Given the description of an element on the screen output the (x, y) to click on. 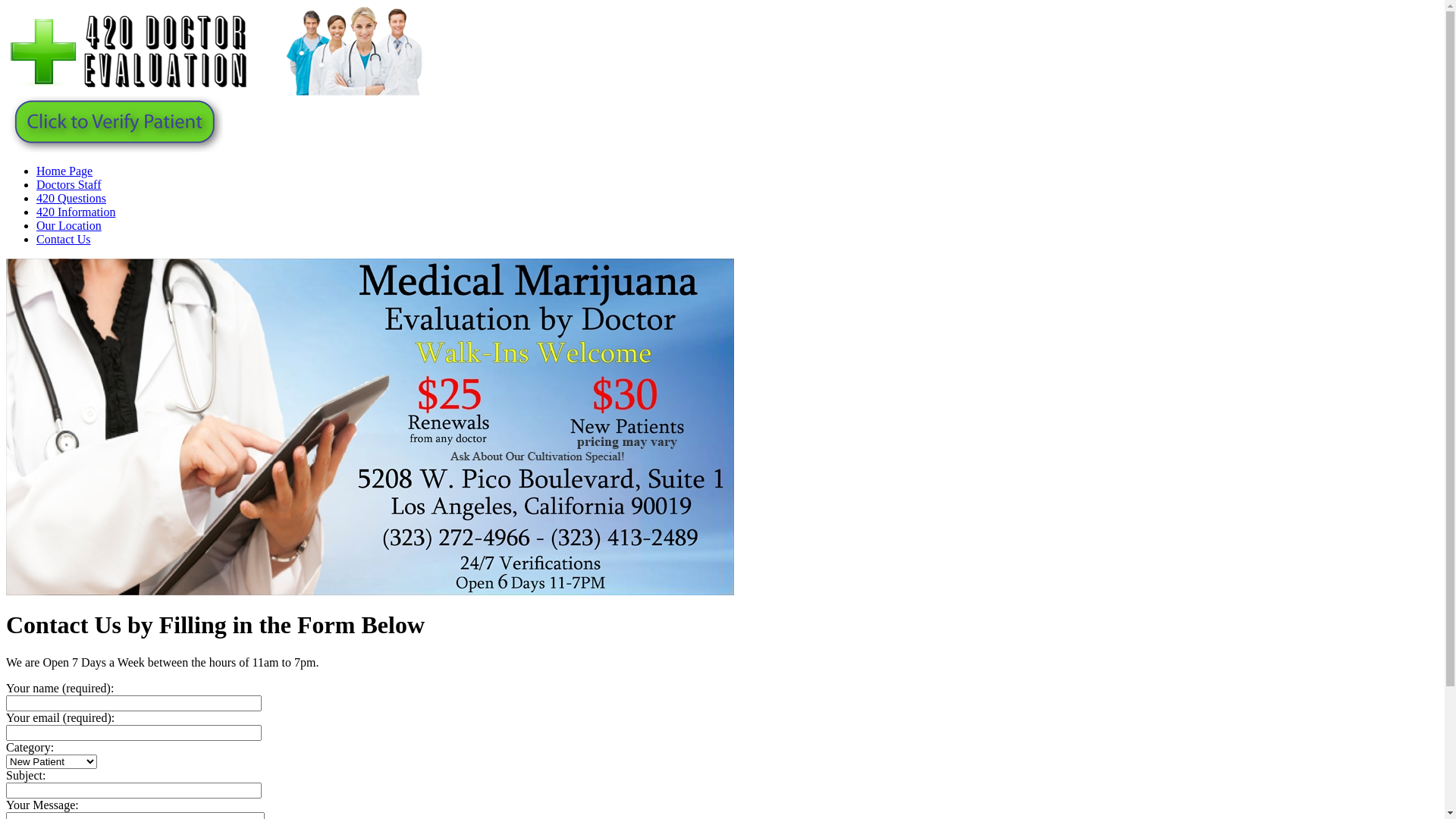
420 Doctor Evaluations Element type: hover (214, 90)
Doctors Staff Element type: text (68, 184)
Our Location Element type: text (68, 225)
420 Questions Element type: text (71, 197)
Contact Us Element type: text (63, 238)
Home Page Element type: text (64, 170)
420 Information Element type: text (75, 211)
